Given the description of an element on the screen output the (x, y) to click on. 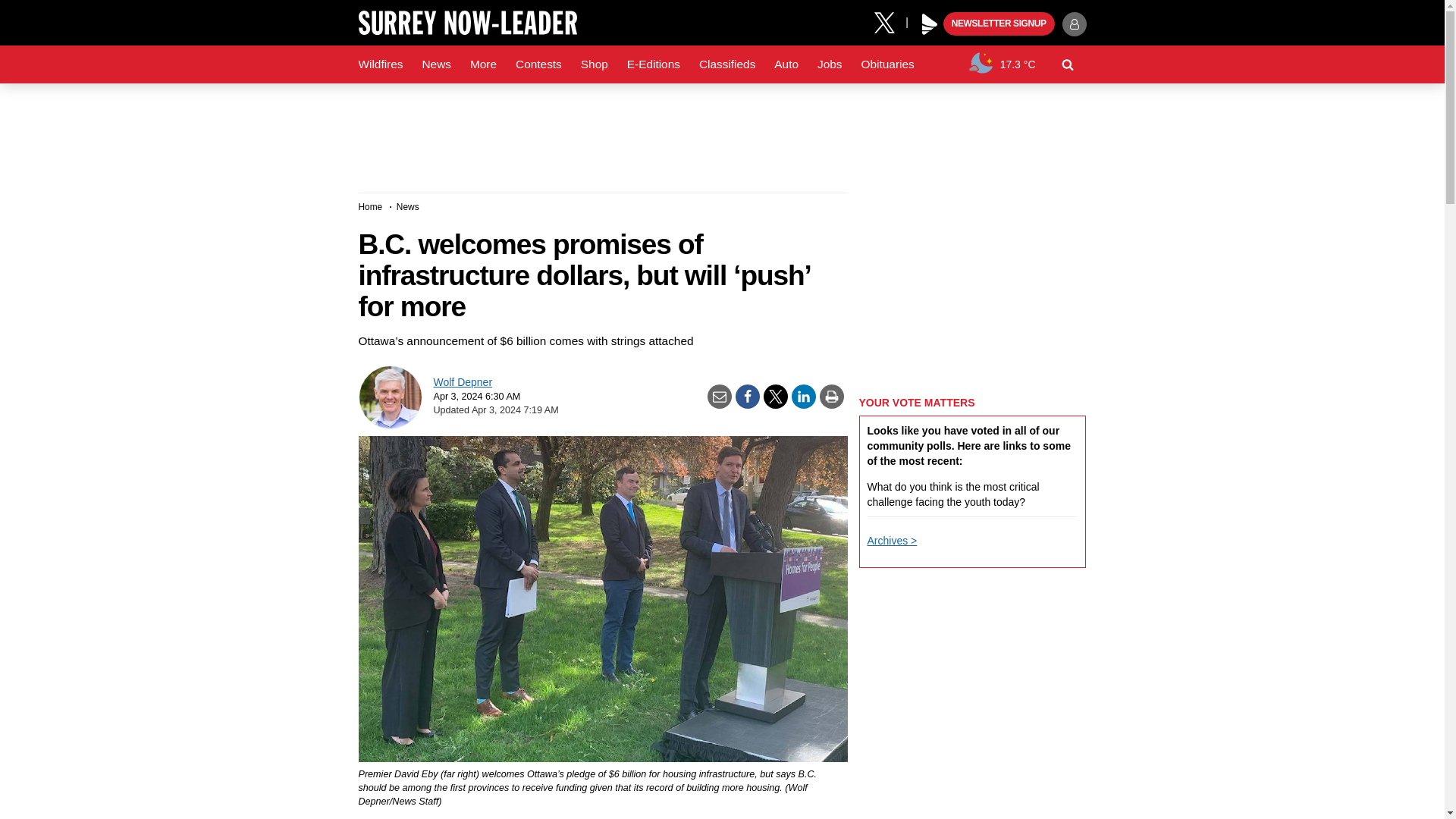
News (435, 64)
NEWSLETTER SIGNUP (998, 24)
X (889, 21)
Play (929, 24)
Wildfires (380, 64)
Black Press Media (929, 24)
